Given the description of an element on the screen output the (x, y) to click on. 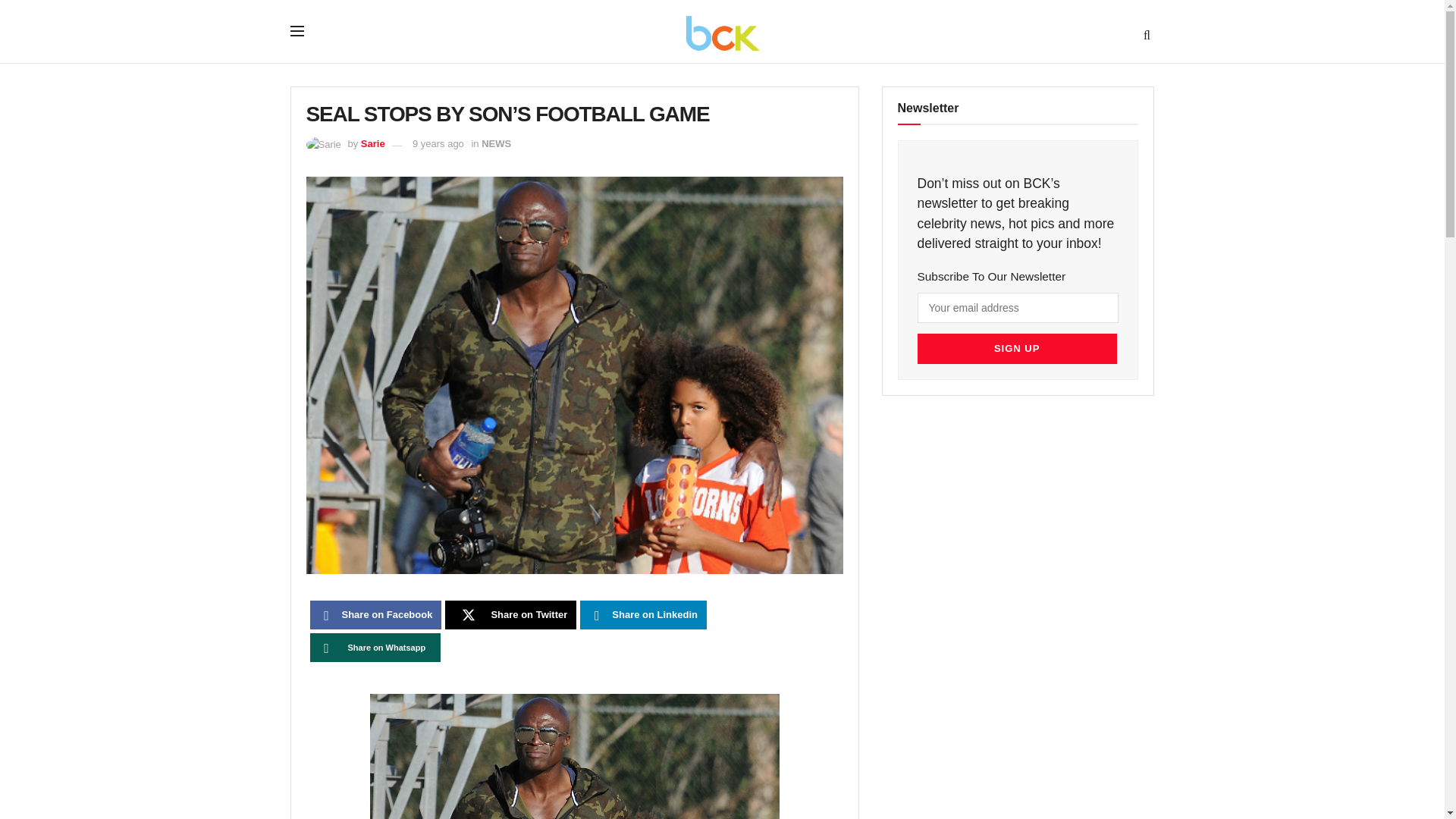
Share on Facebook (374, 614)
Share on Whatsapp (374, 647)
NEWS (496, 143)
Share on Linkedin (642, 614)
Share on Twitter (510, 614)
Sarie (373, 143)
Sign up (1016, 348)
9 years ago (438, 143)
